Given the description of an element on the screen output the (x, y) to click on. 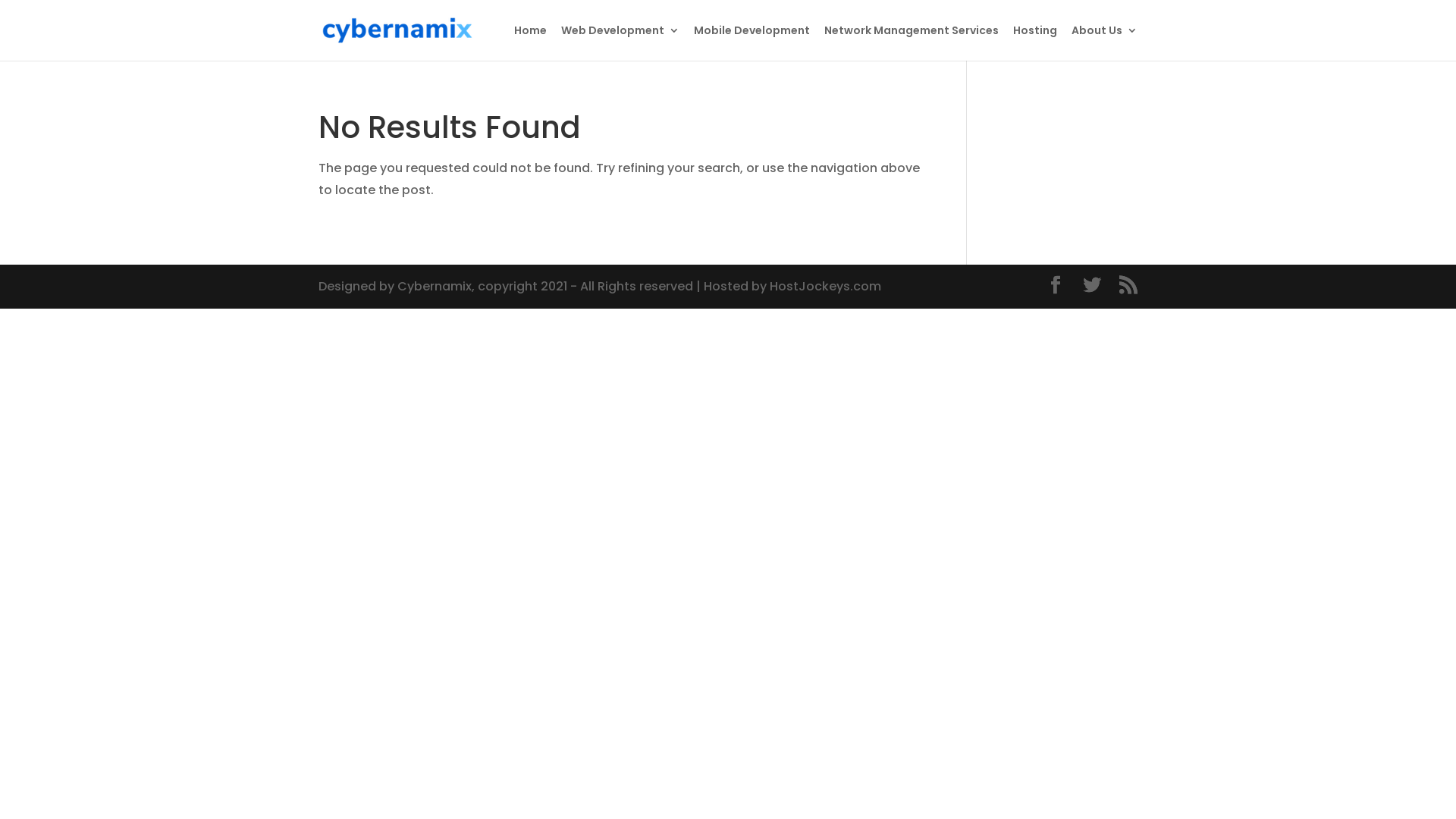
Hosting Element type: text (1035, 42)
About Us Element type: text (1104, 42)
Mobile Development Element type: text (751, 42)
Network Management Services Element type: text (911, 42)
Home Element type: text (530, 42)
Web Development Element type: text (620, 42)
